Given the description of an element on the screen output the (x, y) to click on. 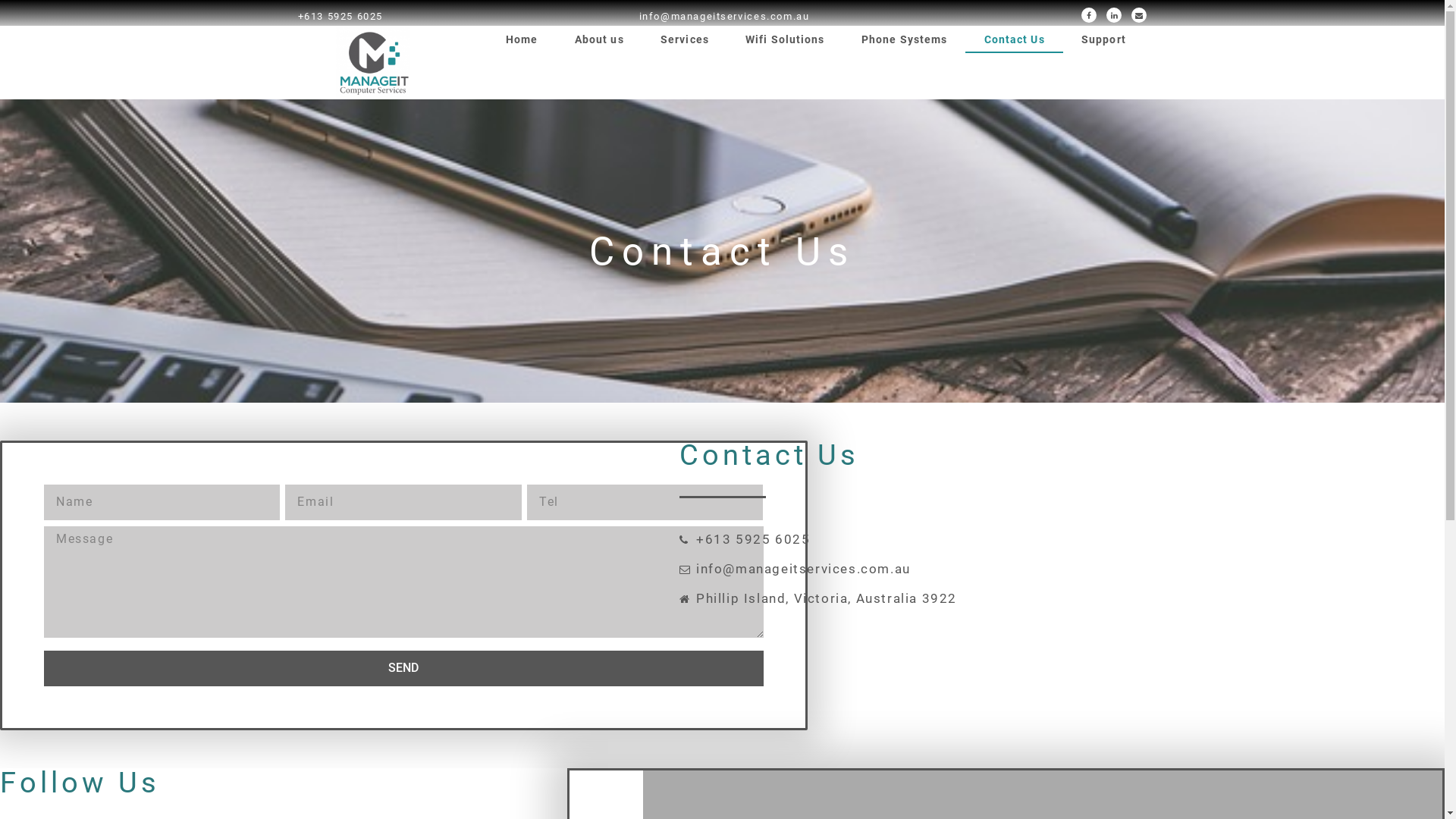
Services Element type: text (684, 39)
+613 5925 6025 Element type: text (1040, 539)
Contact Us Element type: text (1013, 39)
Phone Systems Element type: text (904, 39)
info@manageitservices.com.au Element type: text (1040, 568)
SEND Element type: text (403, 668)
Wifi Solutions Element type: text (785, 39)
Home Element type: text (521, 39)
About us Element type: text (599, 39)
Support Element type: text (1103, 39)
